Given the description of an element on the screen output the (x, y) to click on. 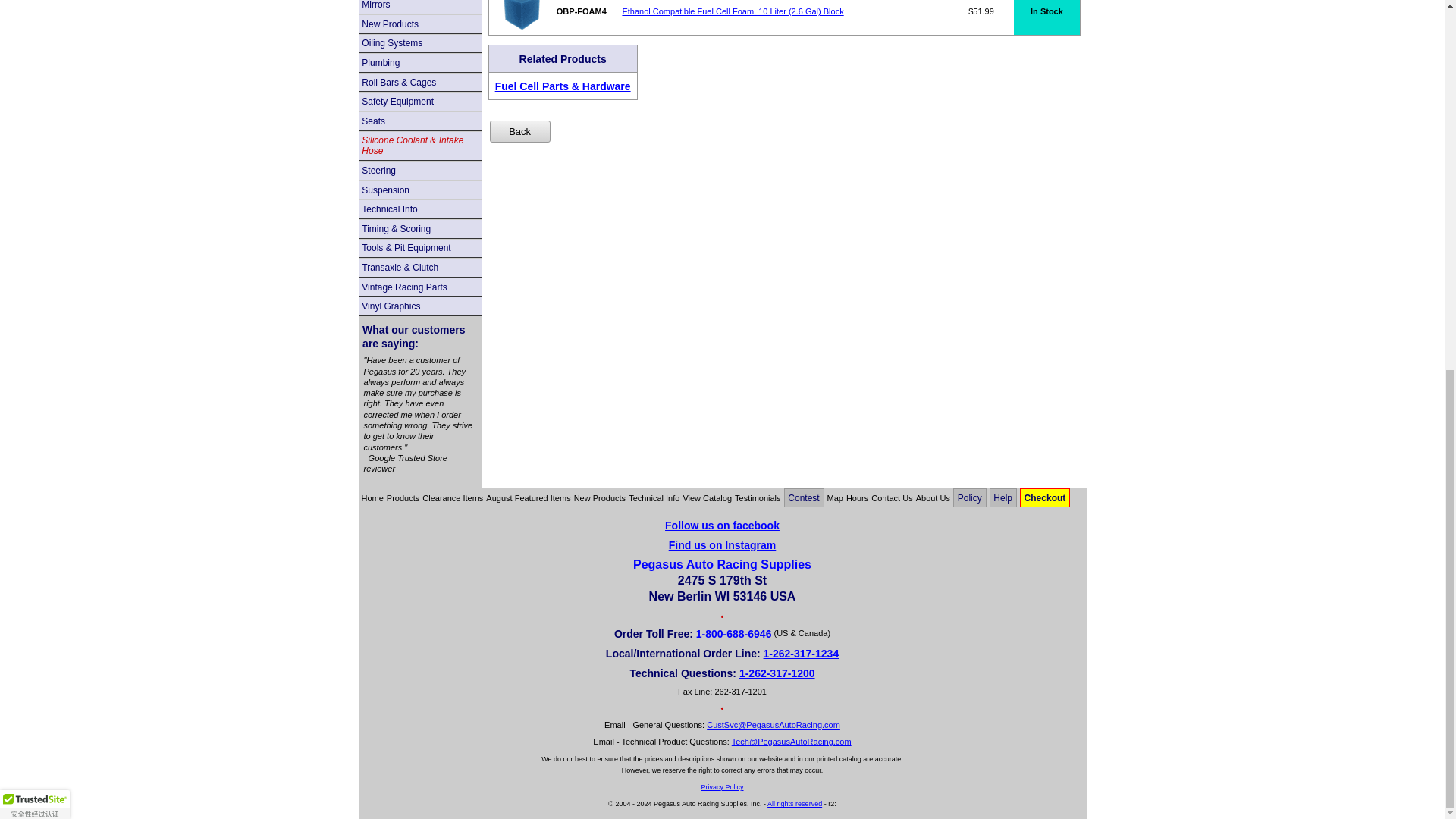
Copyright Information (794, 803)
Pegasus Auto Racing Supplies (722, 544)
TrustedSite Certified (34, 133)
Pegasus Auto Racing Supplies (721, 525)
View our privacy policy (721, 786)
Back (519, 131)
